Given the description of an element on the screen output the (x, y) to click on. 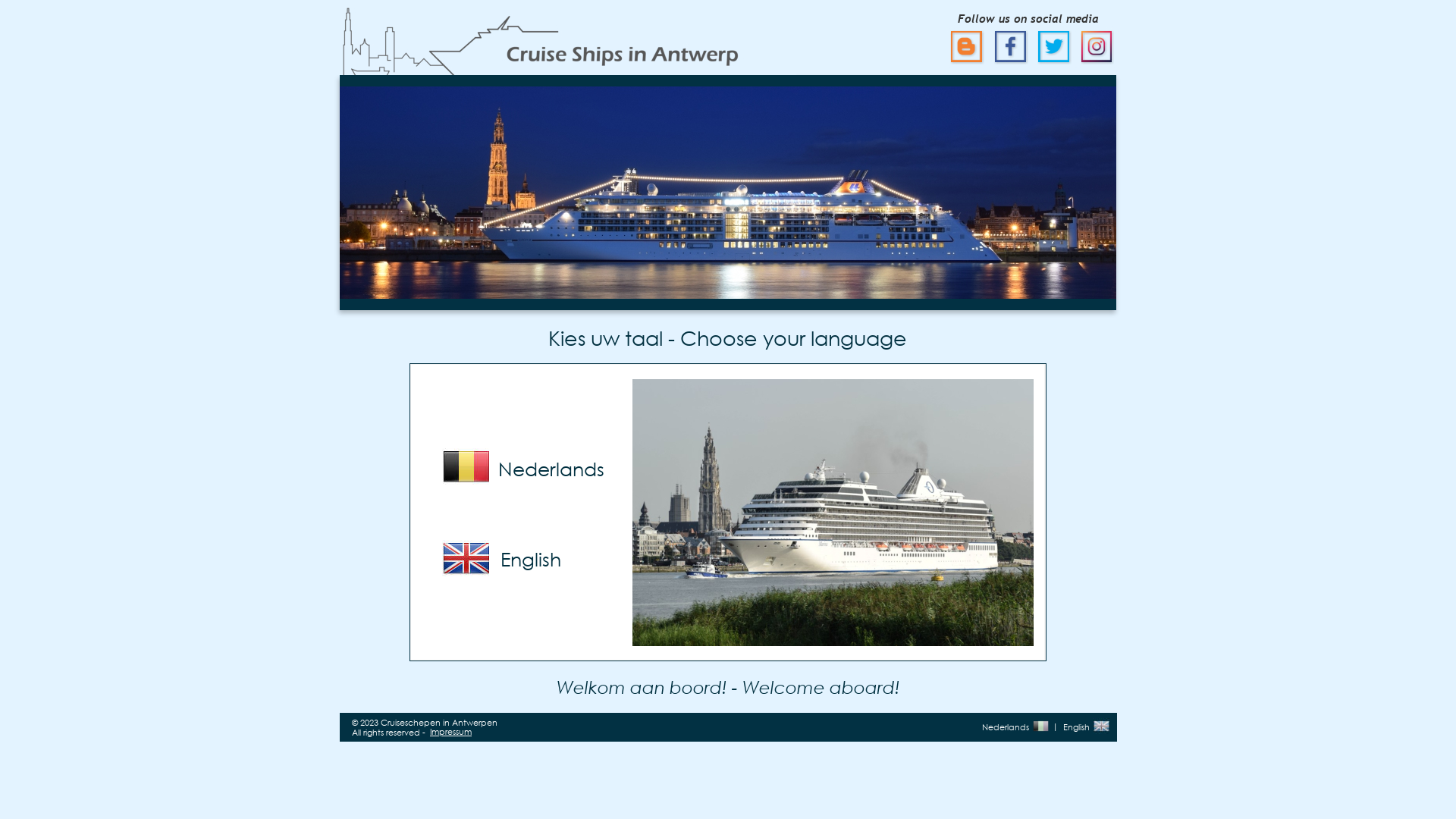
Nederlands Element type: text (551, 468)
English Element type: text (530, 558)
Impressum Element type: text (450, 731)
